Given the description of an element on the screen output the (x, y) to click on. 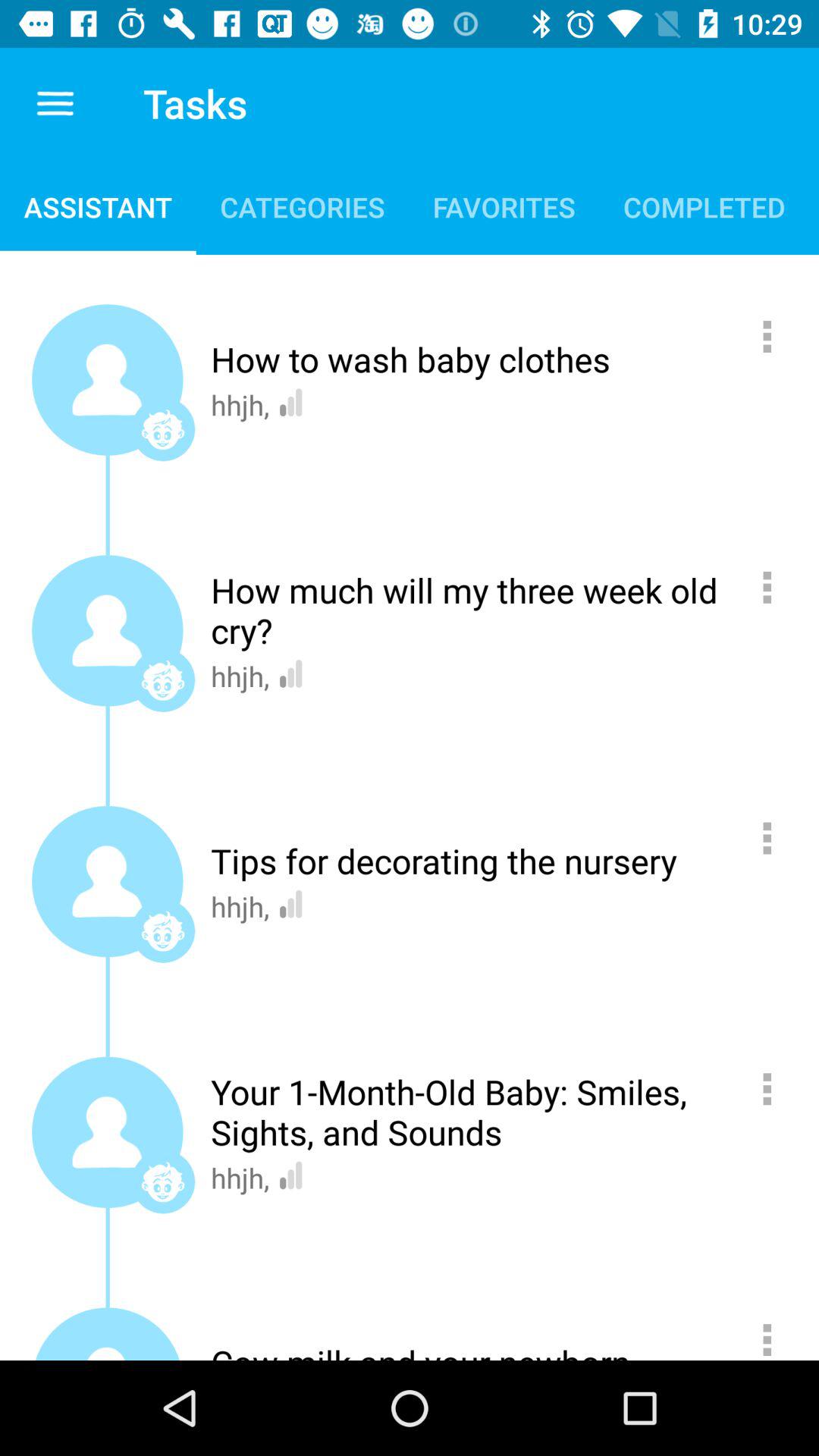
click on gear icon for more options (775, 1334)
